Given the description of an element on the screen output the (x, y) to click on. 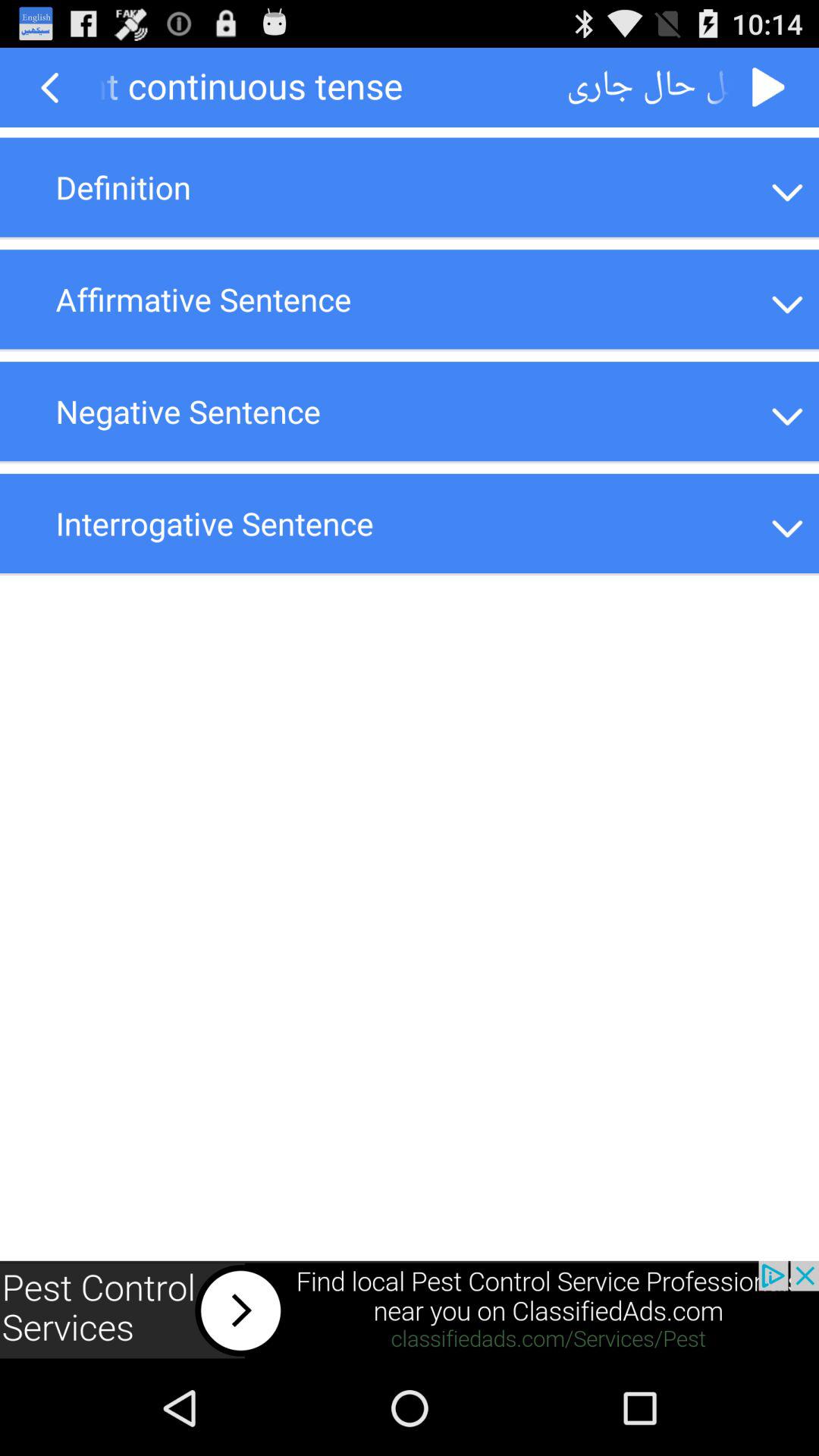
advertisement click (409, 1310)
